Given the description of an element on the screen output the (x, y) to click on. 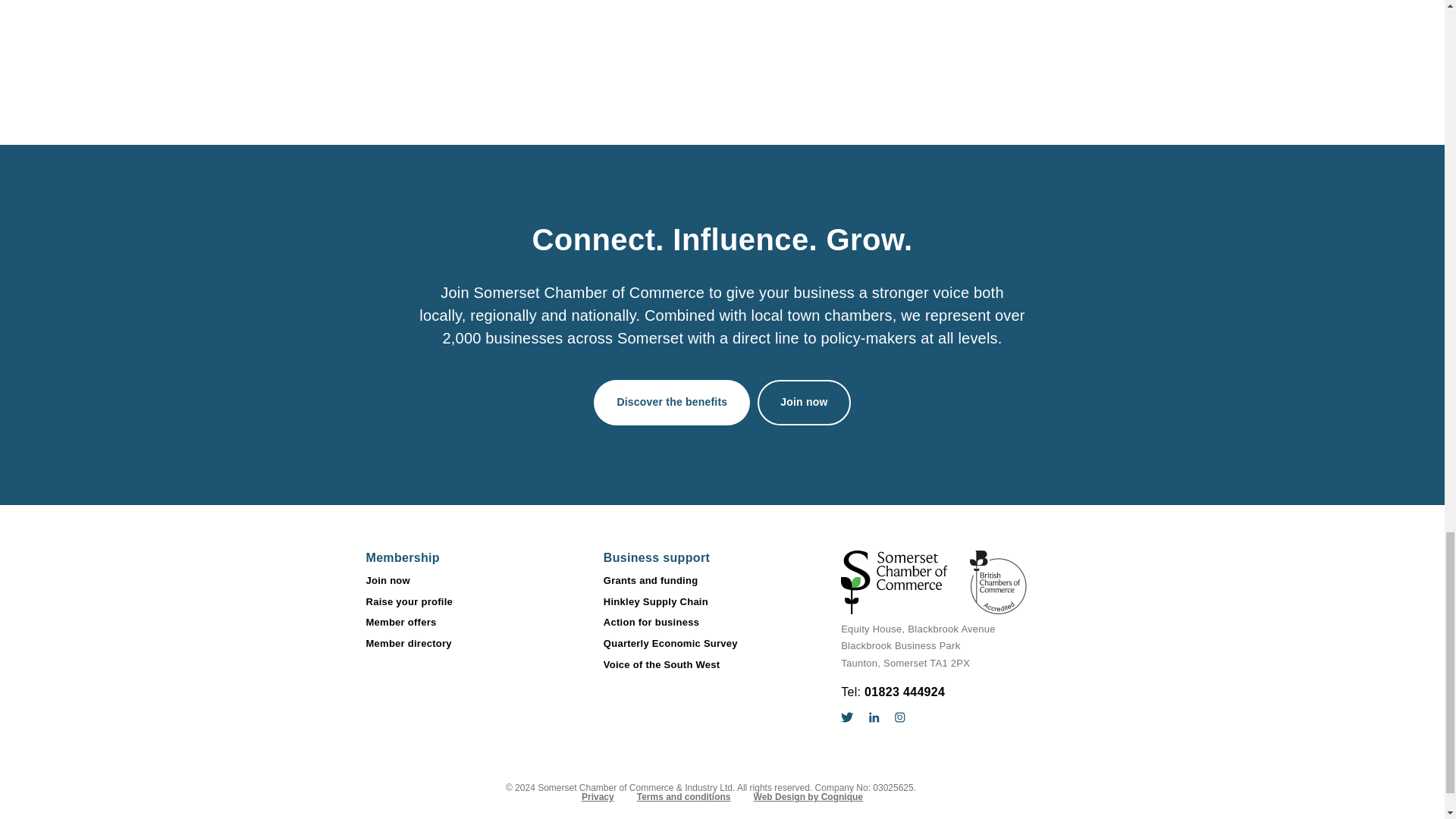
Somerset Chamber (933, 582)
